Given the description of an element on the screen output the (x, y) to click on. 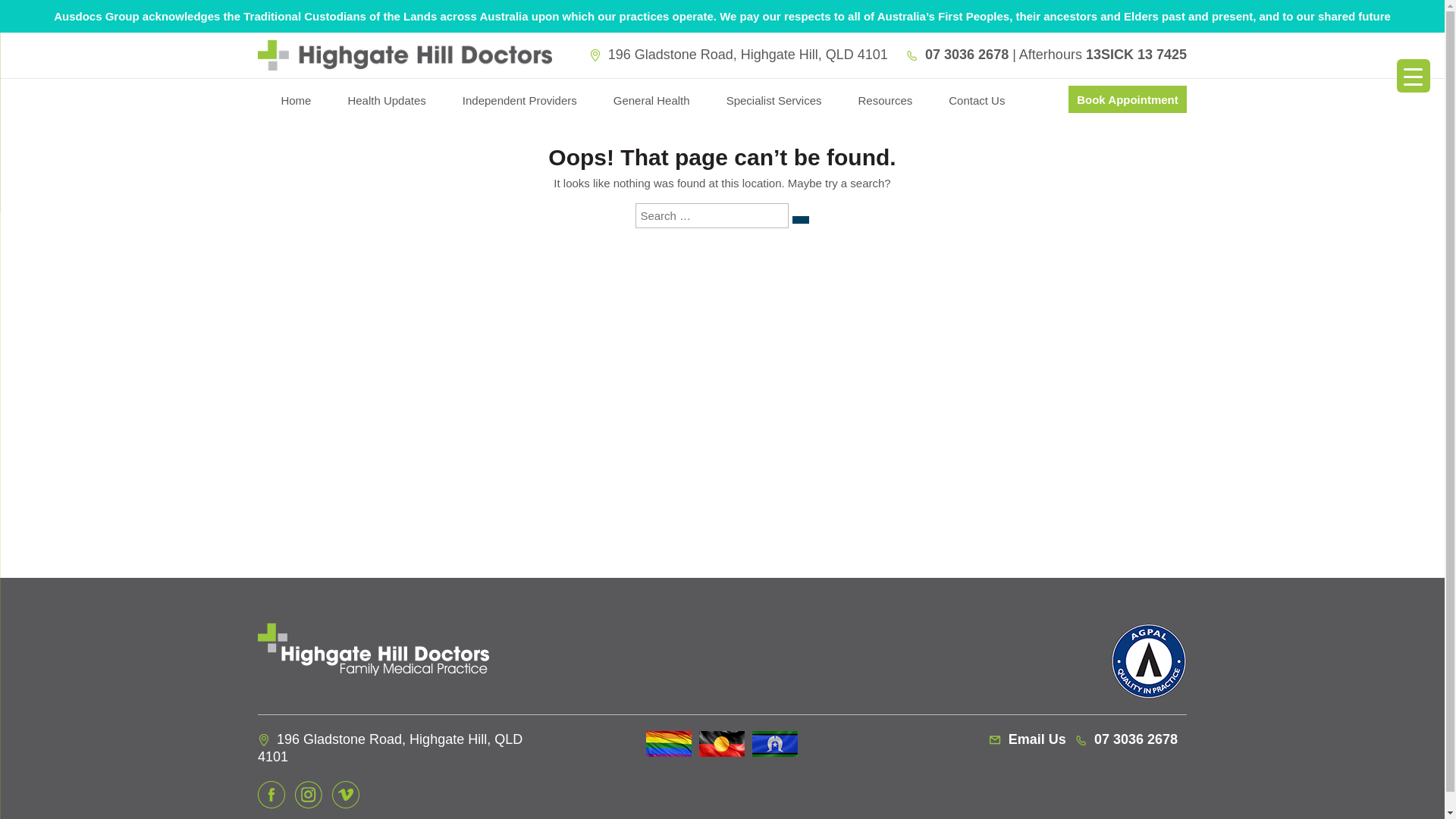
Home Element type: text (295, 104)
07 3036 2678 Element type: text (1126, 738)
Independent Providers Element type: text (519, 104)
Book Appointment Element type: text (1127, 98)
Email Us Element type: text (1027, 738)
13SICK 13 7425 Element type: text (1135, 54)
07 3036 2678 Element type: text (957, 54)
Health Updates Element type: text (386, 104)
Contact Us Element type: text (976, 104)
Resources Element type: text (885, 104)
General Health Element type: text (651, 104)
Search Element type: text (800, 219)
Specialist Services Element type: text (774, 104)
